Given the description of an element on the screen output the (x, y) to click on. 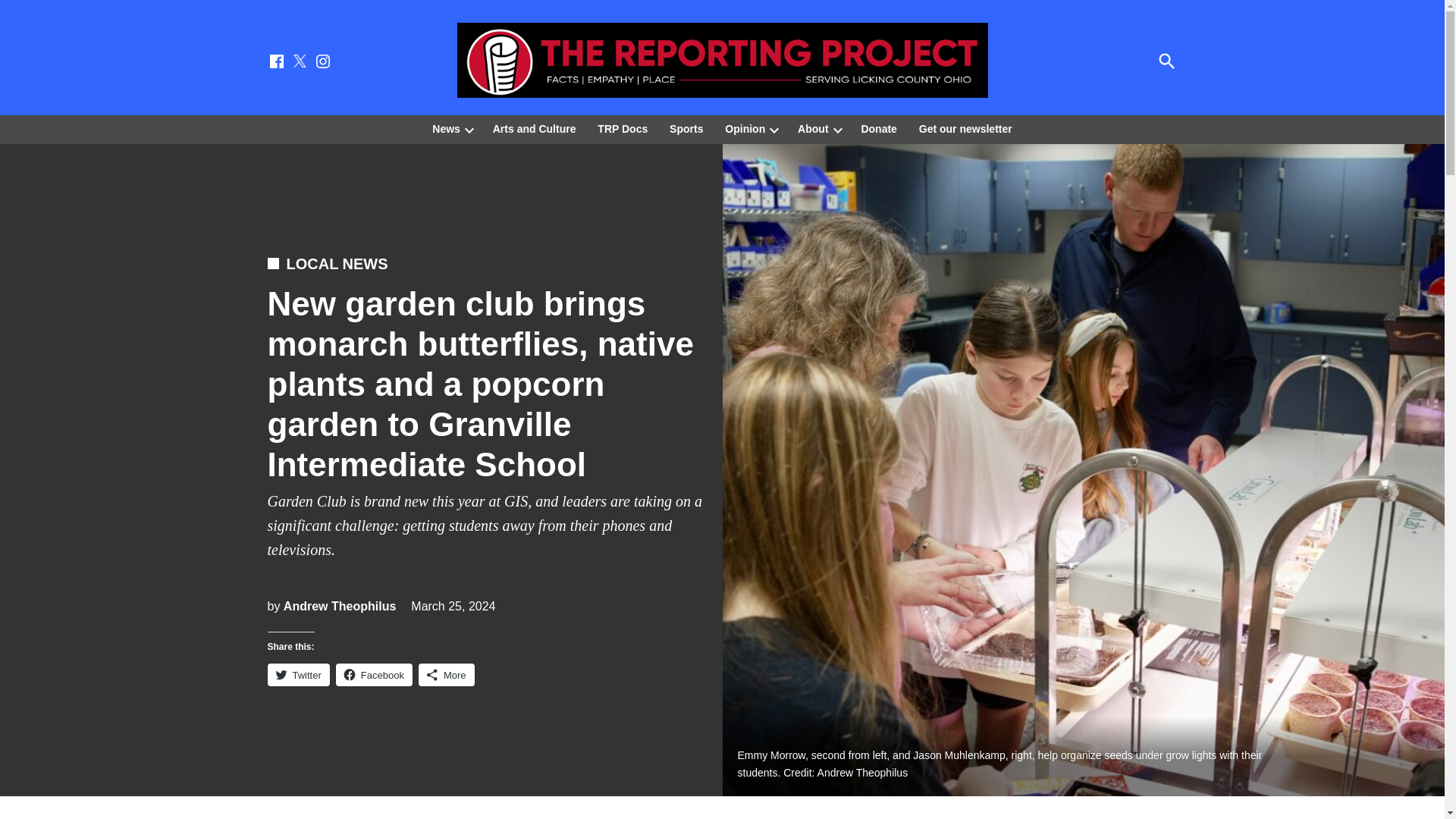
Click to share on Facebook (374, 674)
Click to share on Twitter (297, 674)
